Given the description of an element on the screen output the (x, y) to click on. 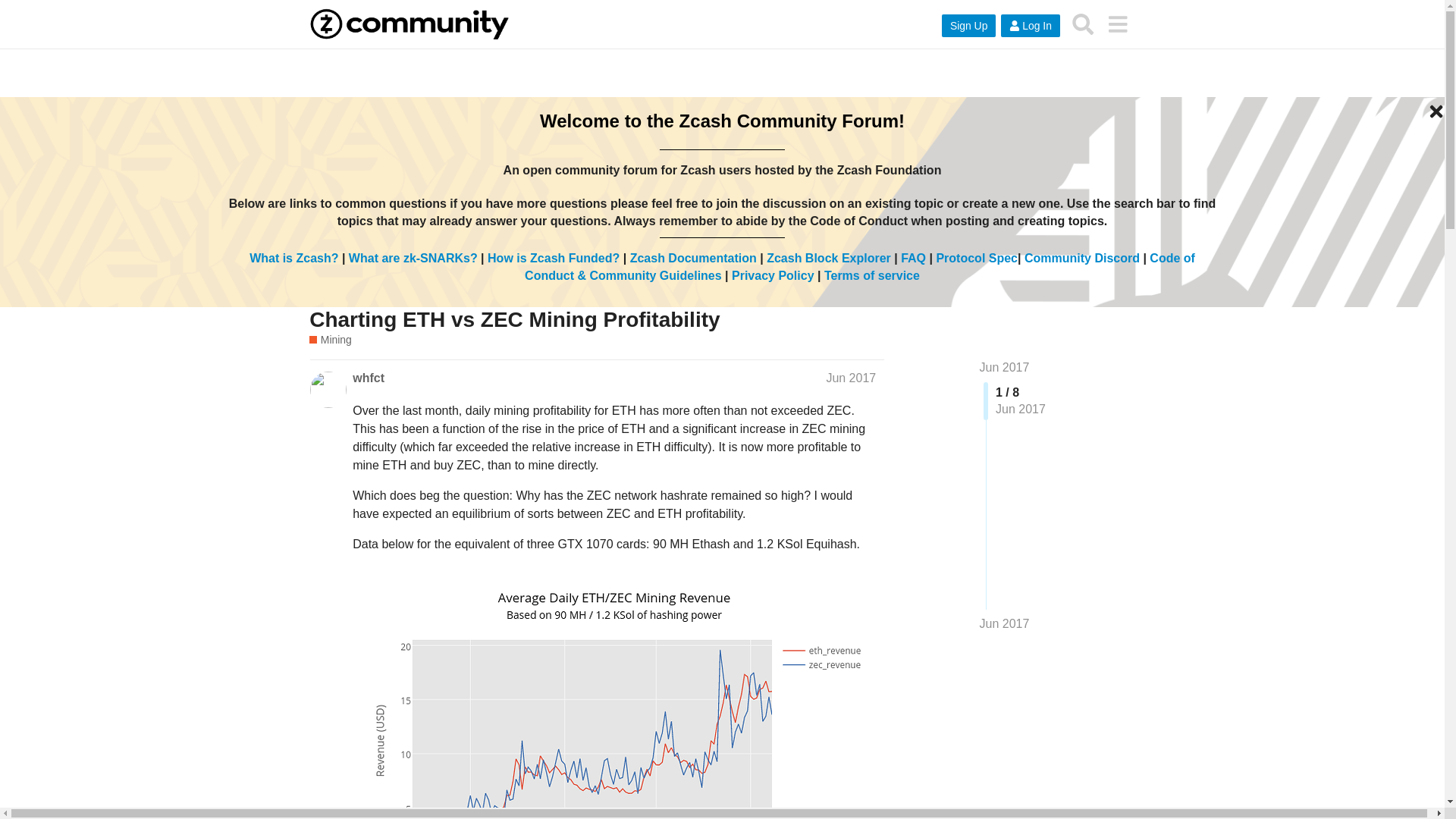
Sign Up (968, 25)
Charting ETH vs ZEC Mining Profitability (513, 319)
Jun 2017 (1004, 623)
What is Zcash? (292, 257)
How is Zcash Funded? (553, 257)
What are zk-SNARKs? (413, 257)
whfct (368, 378)
Post date (850, 377)
menu (1117, 23)
Jump to the last post (1004, 623)
